Given the description of an element on the screen output the (x, y) to click on. 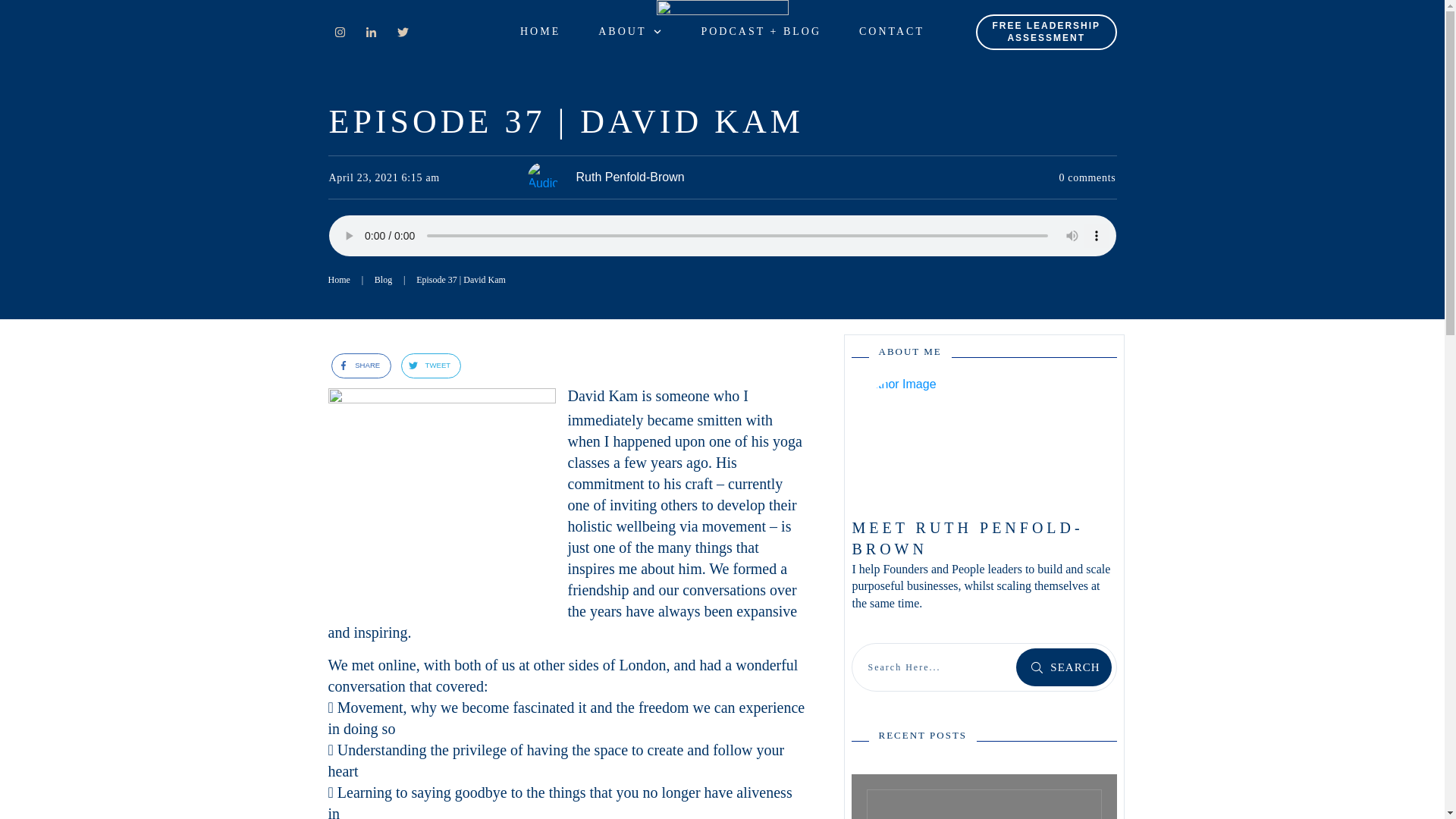
undefined (913, 438)
Blog (382, 280)
ABOUT (630, 31)
FREE LEADERSHIP ASSESSMENT (1045, 32)
HOME (539, 31)
Home (338, 280)
David Kam (602, 395)
TWEET (425, 365)
CONTACT (891, 31)
SHARE (355, 365)
